Given the description of an element on the screen output the (x, y) to click on. 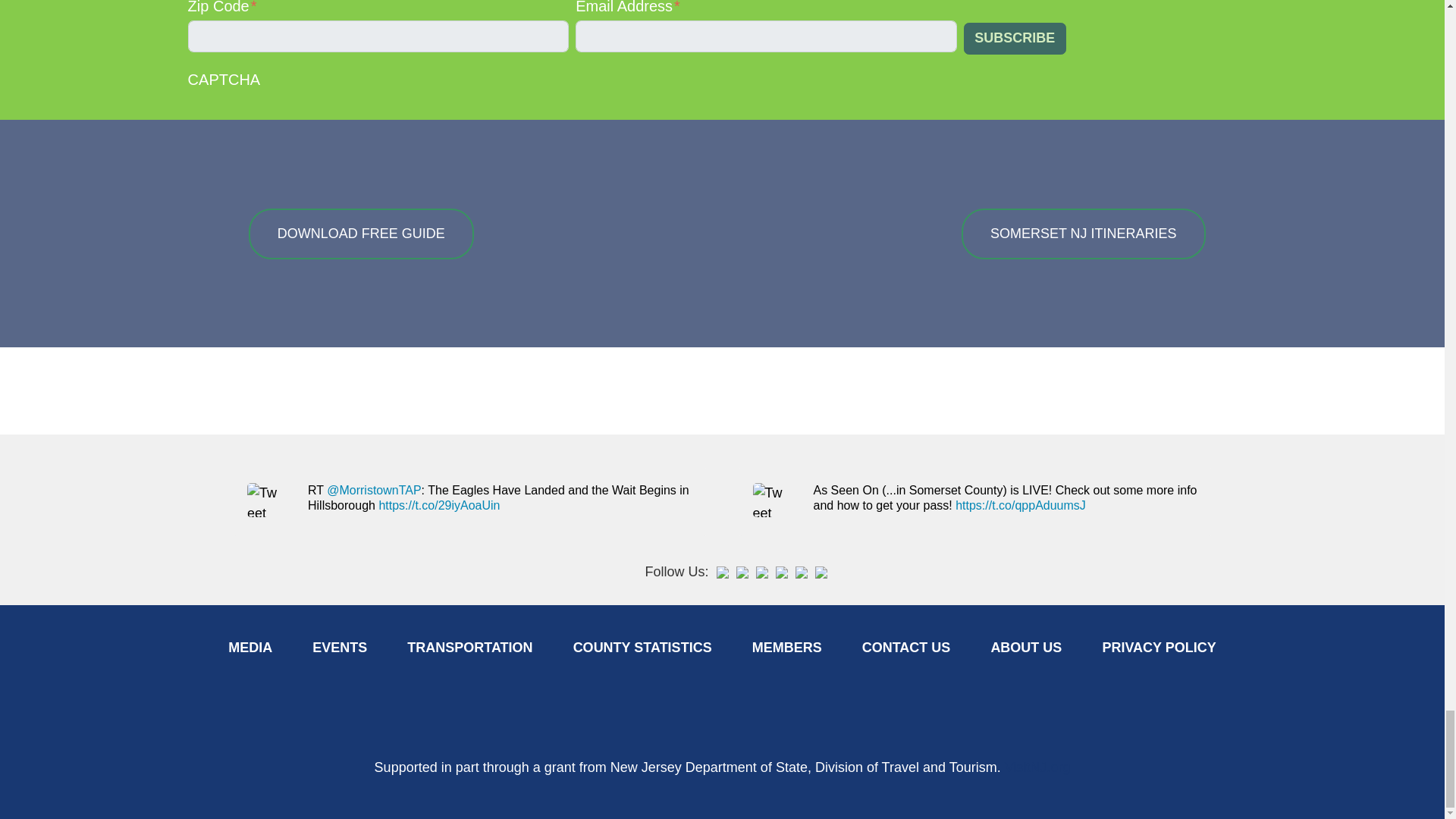
Subscribe (1014, 38)
